Given the description of an element on the screen output the (x, y) to click on. 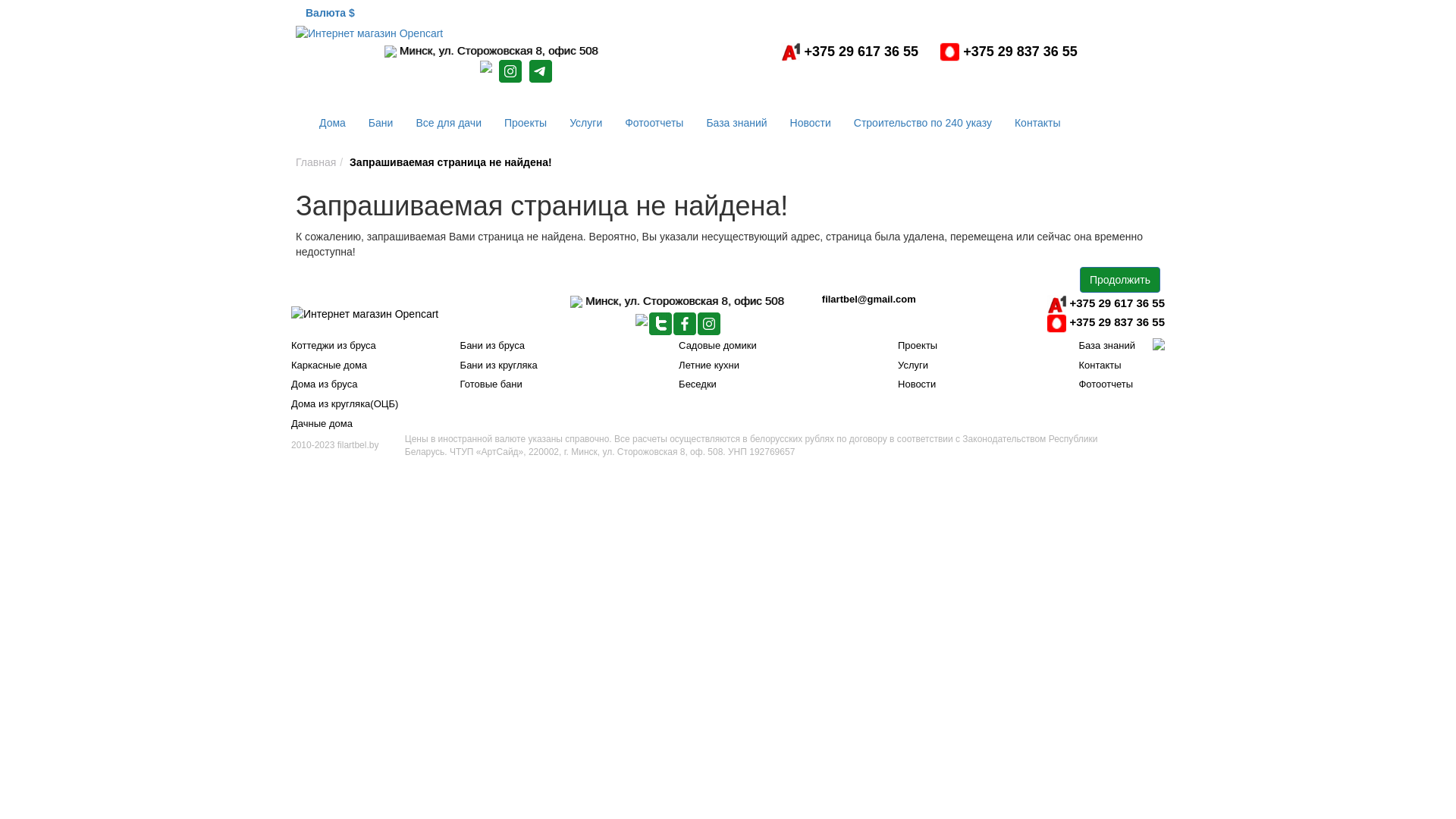
+375 29 617 36 55 Element type: text (849, 52)
filartbel@gmail.com Element type: text (869, 313)
+375 29 837 36 55 Element type: text (1008, 52)
+375 29 617 36 55 Element type: text (1105, 303)
+375 29 837 36 55 Element type: text (1105, 322)
